Given the description of an element on the screen output the (x, y) to click on. 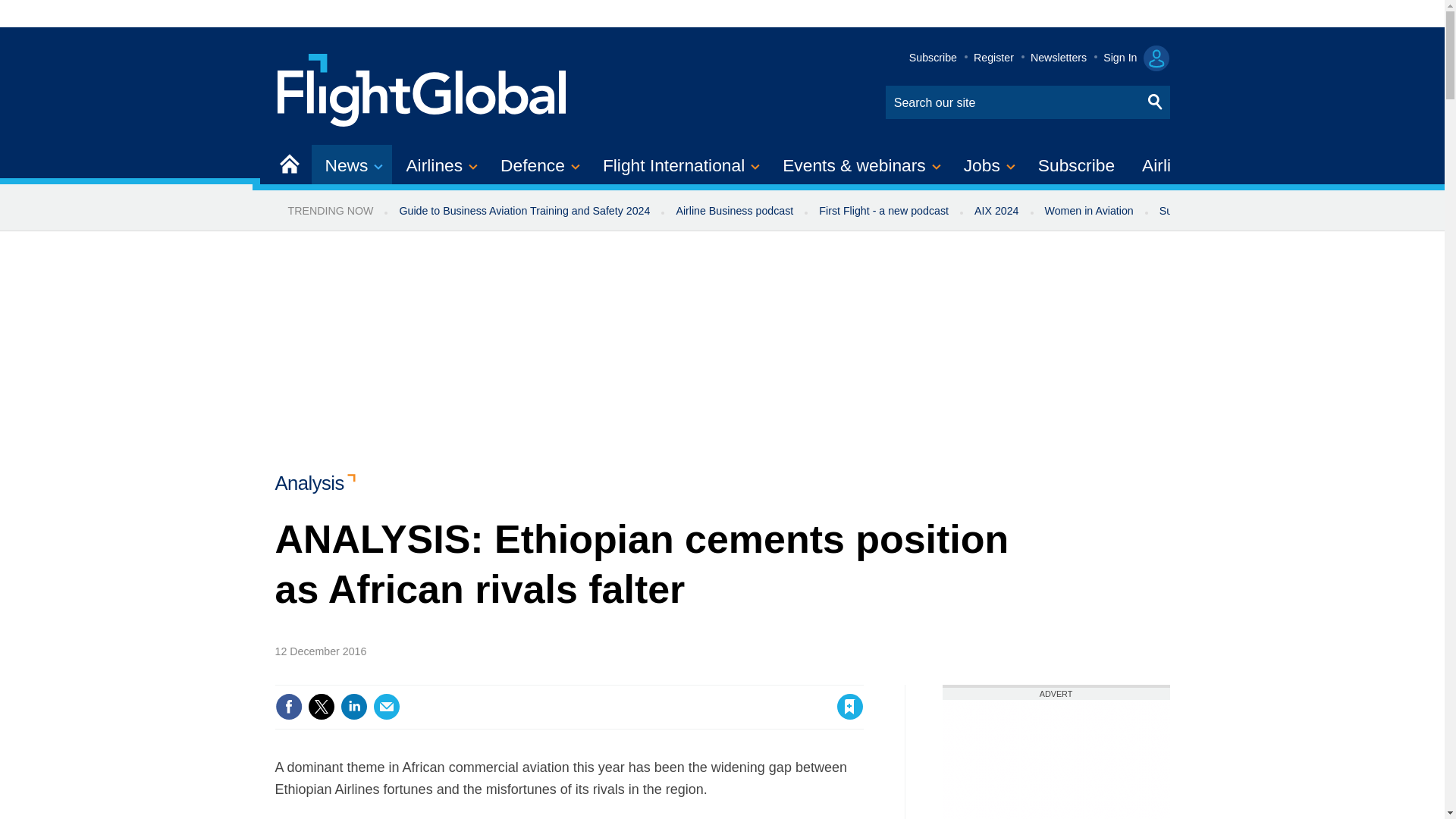
3rd party ad content (1055, 759)
Sustainable Aviation newsletter (1234, 210)
Share this on Facebook (288, 706)
Women in Aviation (1089, 210)
Site name (422, 88)
Guide to Business Aviation Training and Safety 2024 (523, 210)
AIX 2024 (996, 210)
Email this article (386, 706)
Share this on Linked in (352, 706)
Airline Business podcast (734, 210)
First Flight - a new podcast (883, 210)
Share this on Twitter (320, 706)
